Given the description of an element on the screen output the (x, y) to click on. 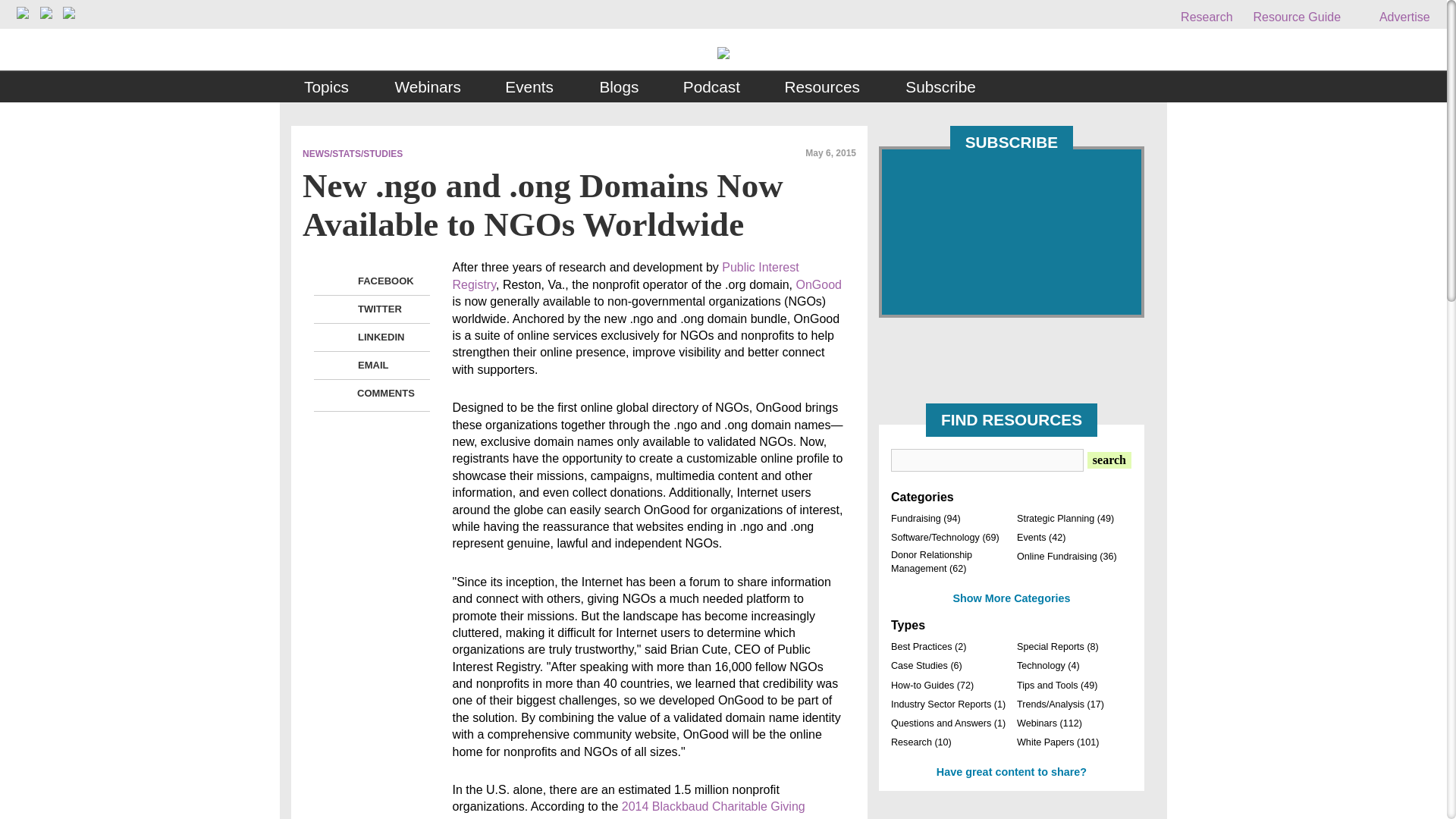
Resource Guide (1296, 16)
search (1109, 460)
Webinars (426, 87)
Research (1205, 16)
Advertise (1395, 16)
LinkedIn (339, 337)
Facebook (339, 281)
Email Link (339, 365)
Twitter (339, 309)
Topics (327, 87)
